Given the description of an element on the screen output the (x, y) to click on. 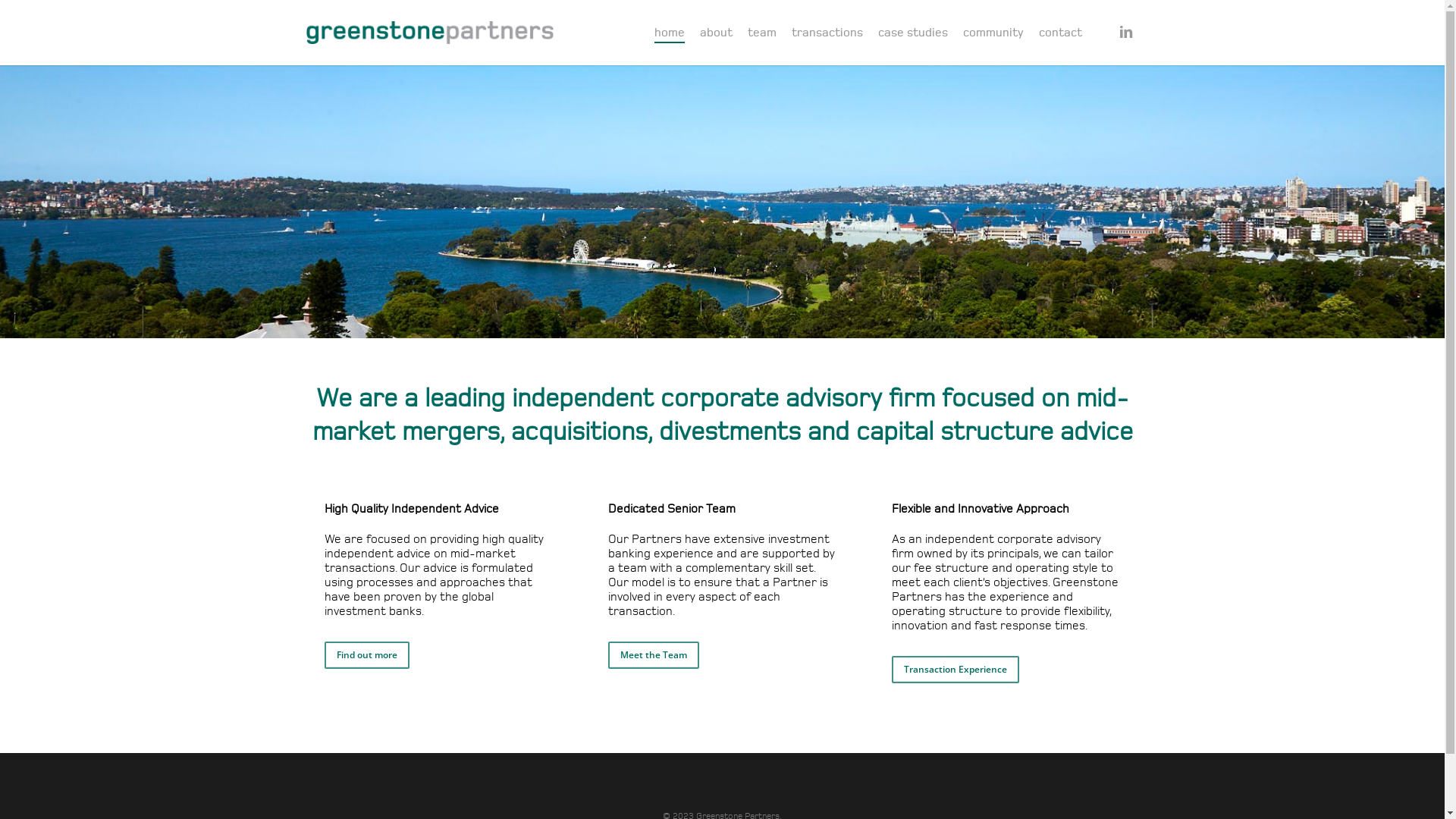
about Element type: text (715, 32)
community Element type: text (993, 32)
Meet the Team Element type: text (653, 654)
Transaction Experience Element type: text (955, 669)
linkedin Element type: text (1125, 32)
home Element type: text (668, 32)
Find out more Element type: text (366, 654)
case studies Element type: text (912, 32)
contact Element type: text (1060, 32)
transactions Element type: text (826, 32)
team Element type: text (761, 32)
